Given the description of an element on the screen output the (x, y) to click on. 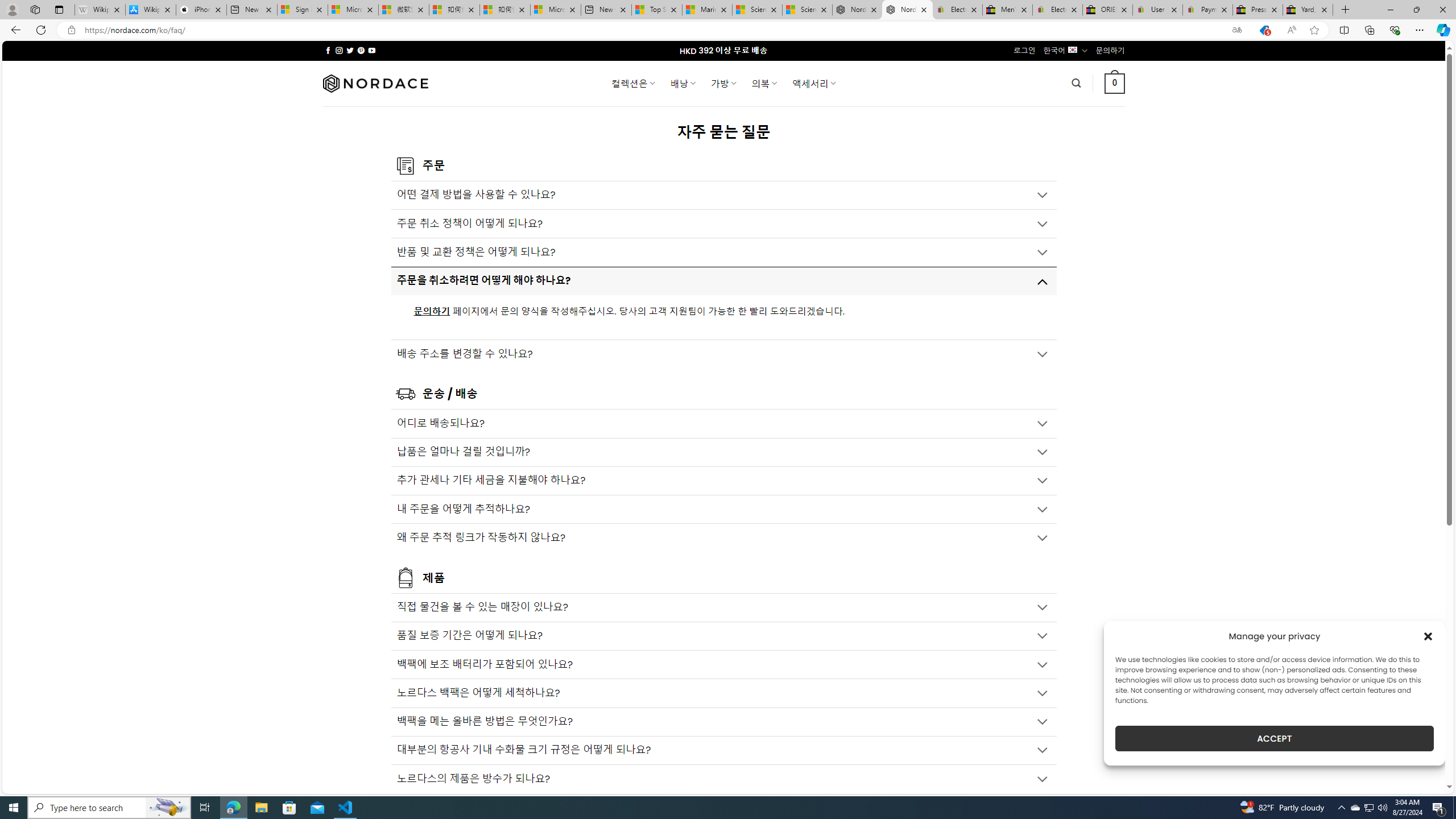
  0   (1115, 83)
Follow on Pinterest (360, 50)
